Given the description of an element on the screen output the (x, y) to click on. 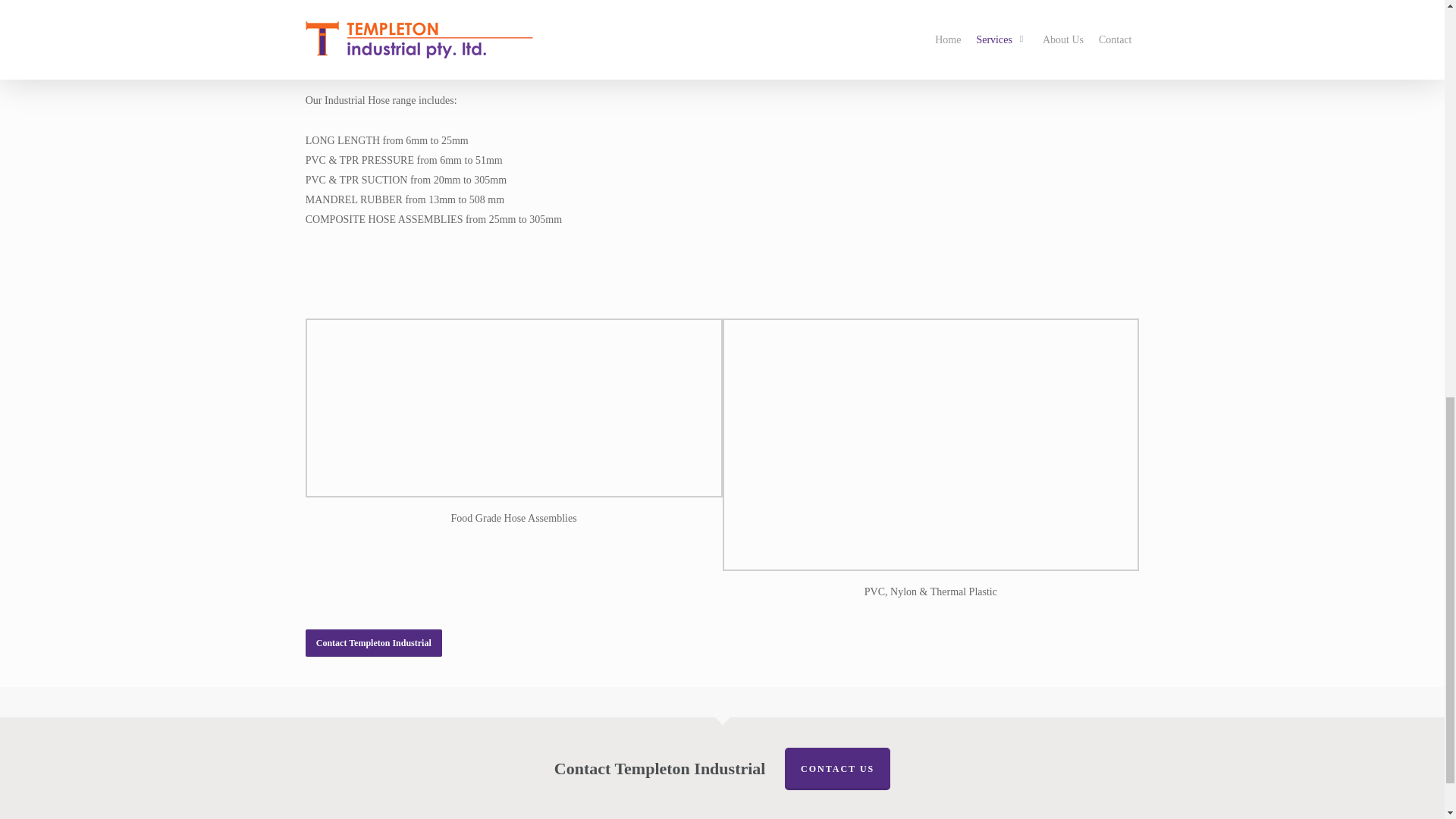
CONTACT US (836, 768)
Contact Templeton Industrial (373, 642)
